Given the description of an element on the screen output the (x, y) to click on. 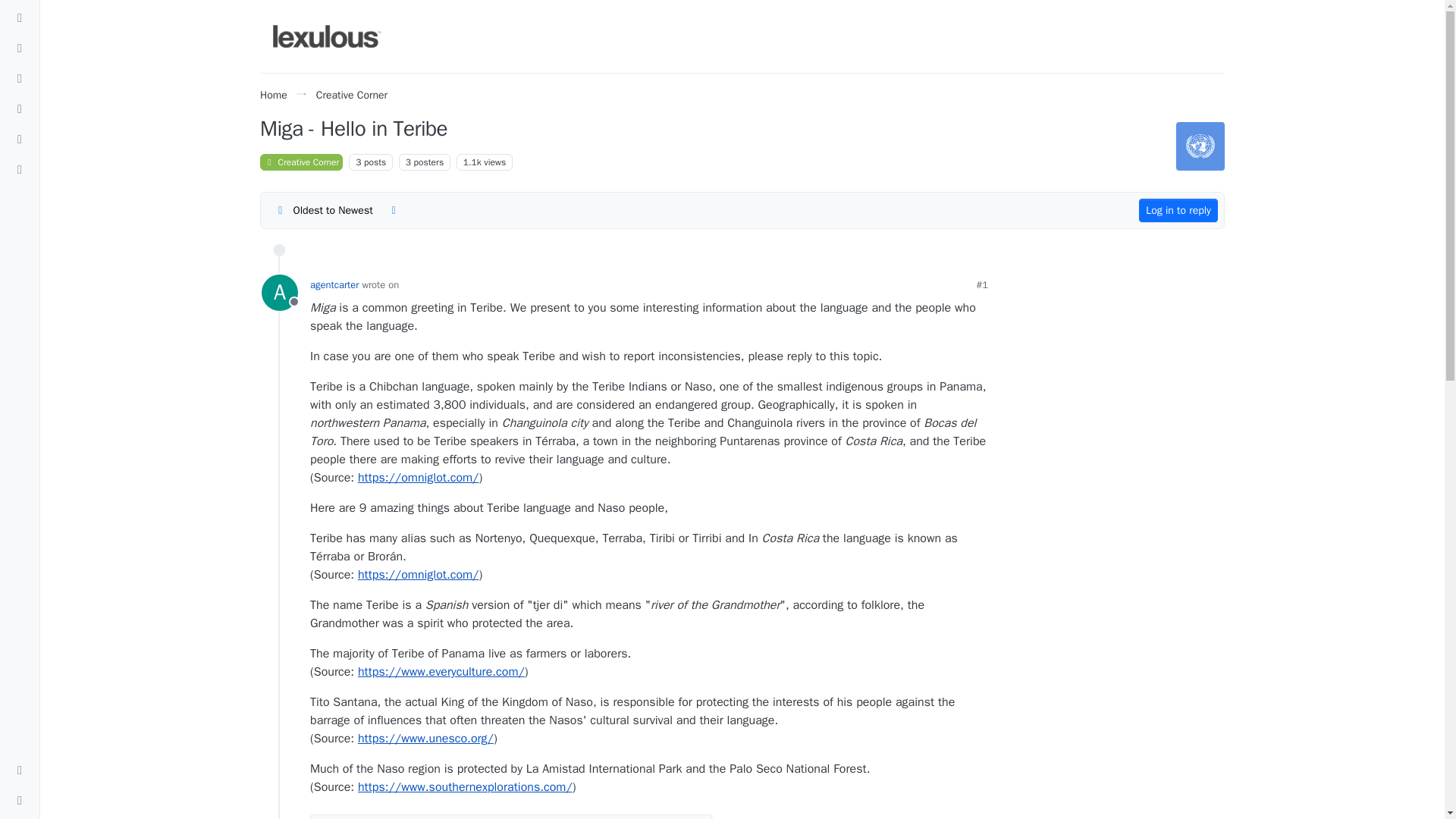
Popular (19, 109)
Categories (19, 17)
Skins (19, 770)
Groups (19, 169)
agentcarter (280, 292)
Tags (19, 78)
Brand Logo (327, 36)
1135 (472, 162)
Creative Corner (351, 94)
Users (19, 139)
